Given the description of an element on the screen output the (x, y) to click on. 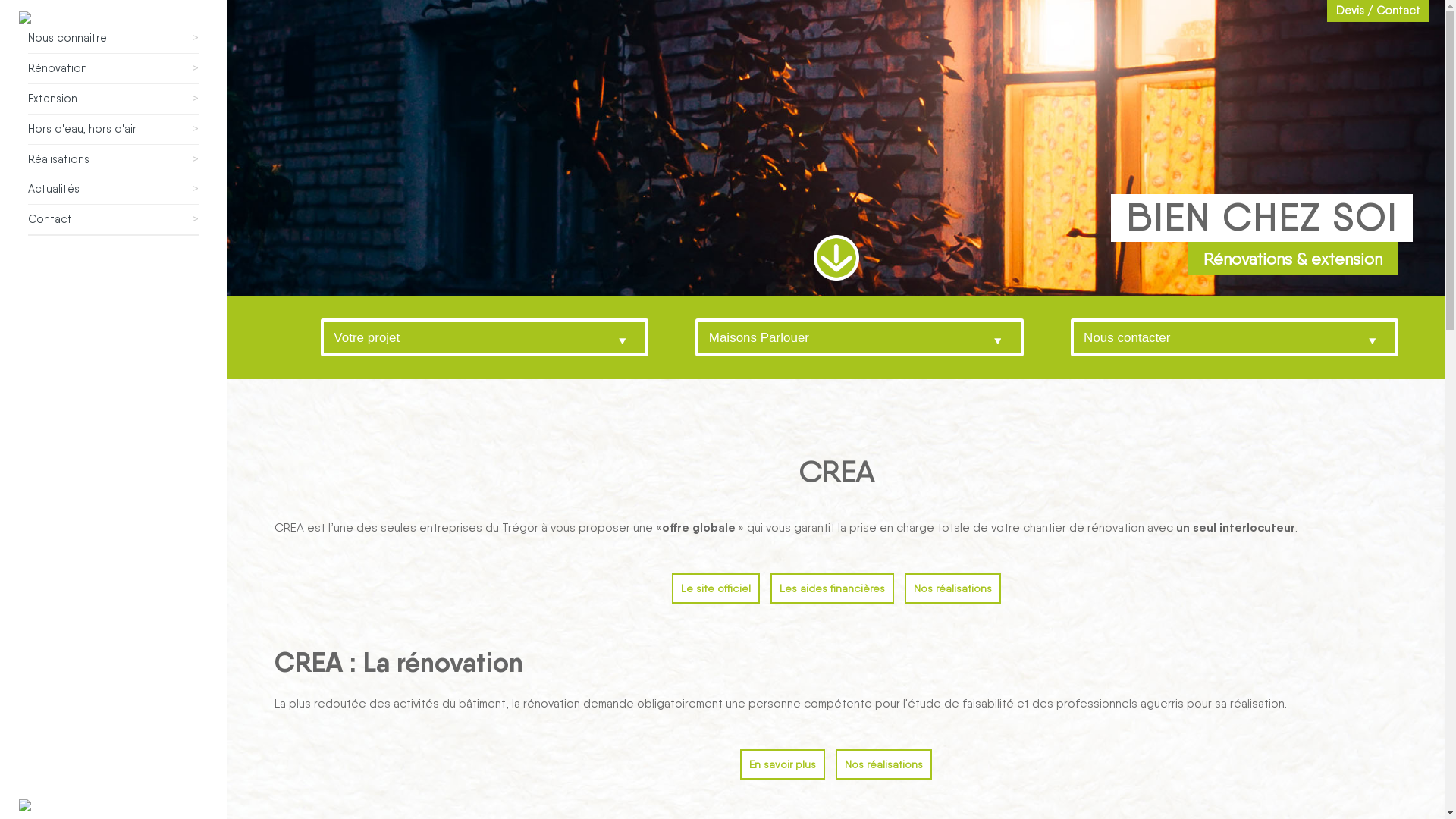
Devis / Contact Element type: text (1378, 10)
Contact Element type: text (50, 218)
Le site officiel Element type: text (715, 588)
Hors d'eau, hors d'air Element type: text (82, 128)
En savoir plus Element type: text (782, 764)
Cliquez pour descendre Element type: hover (836, 257)
Nous connaitre Element type: text (67, 37)
Extension Element type: text (52, 97)
